Given the description of an element on the screen output the (x, y) to click on. 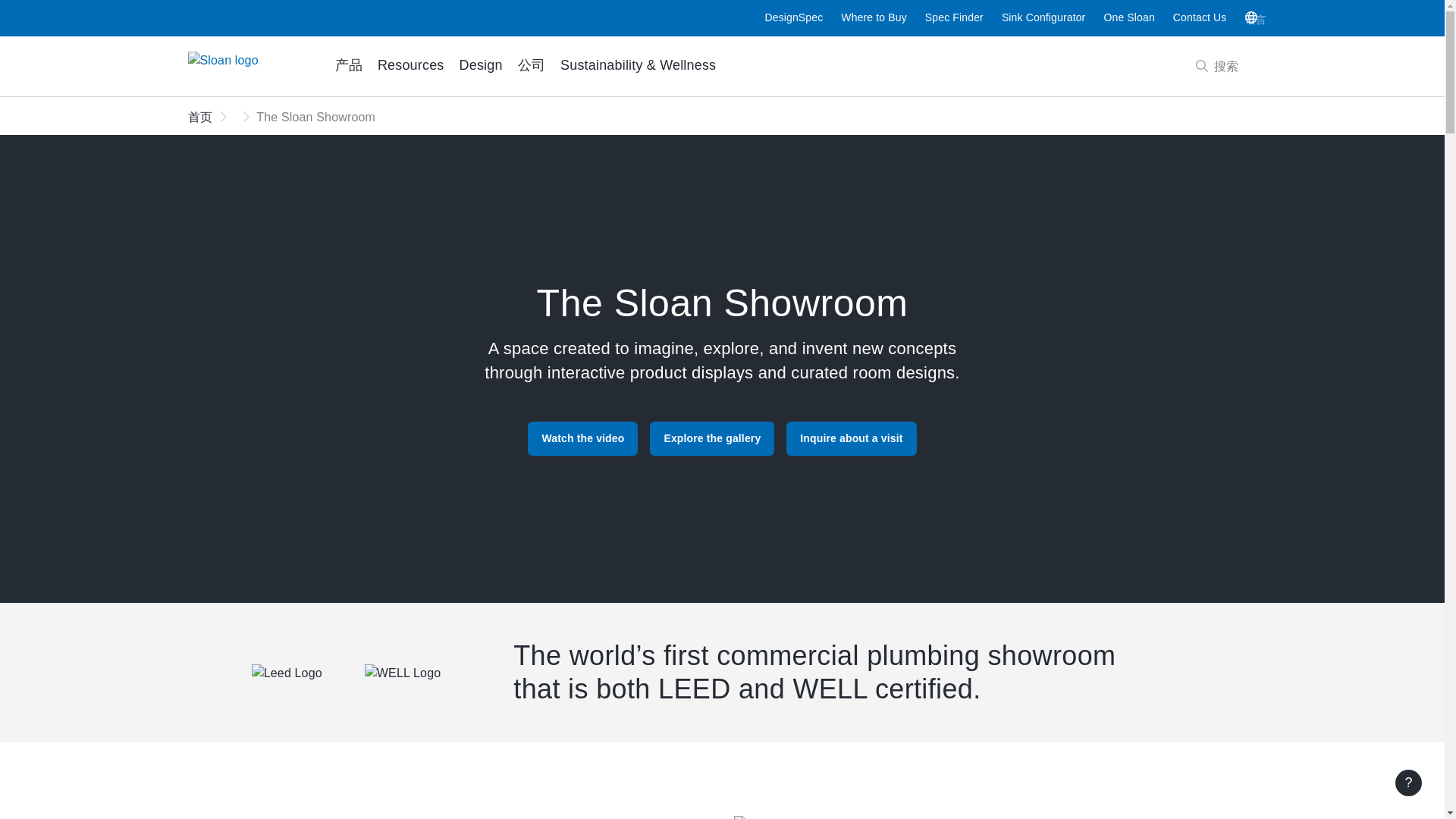
Contact Us (1200, 17)
Contact Us (1408, 782)
One Sloan (1128, 17)
Spec Finder (954, 17)
Sink Configurator (1043, 17)
Resources (410, 66)
DesignSpec (793, 17)
Where to Buy (874, 17)
